Given the description of an element on the screen output the (x, y) to click on. 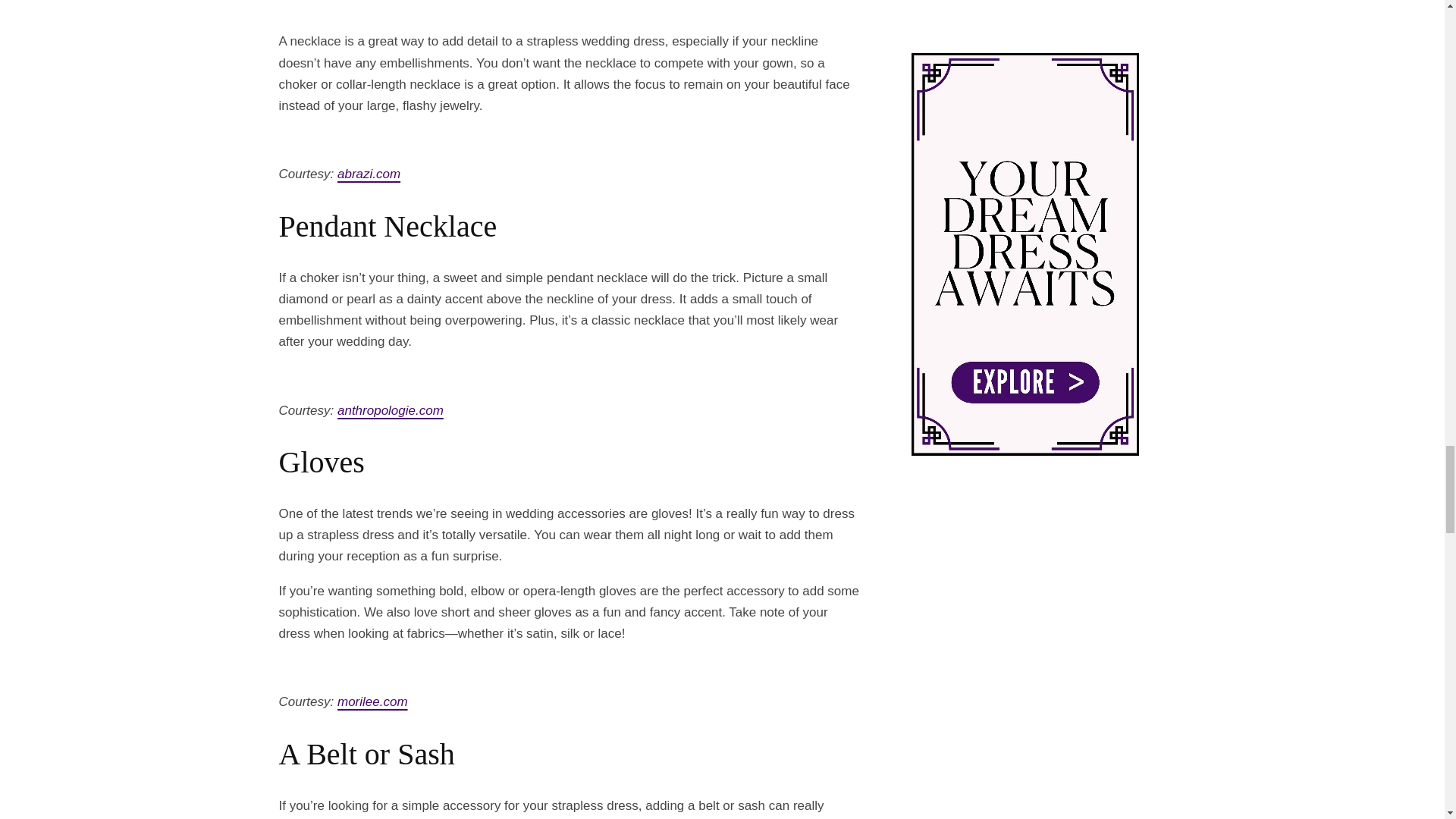
morilee.com (372, 701)
anthropologie.com (390, 410)
abrazi.com (368, 173)
